Given the description of an element on the screen output the (x, y) to click on. 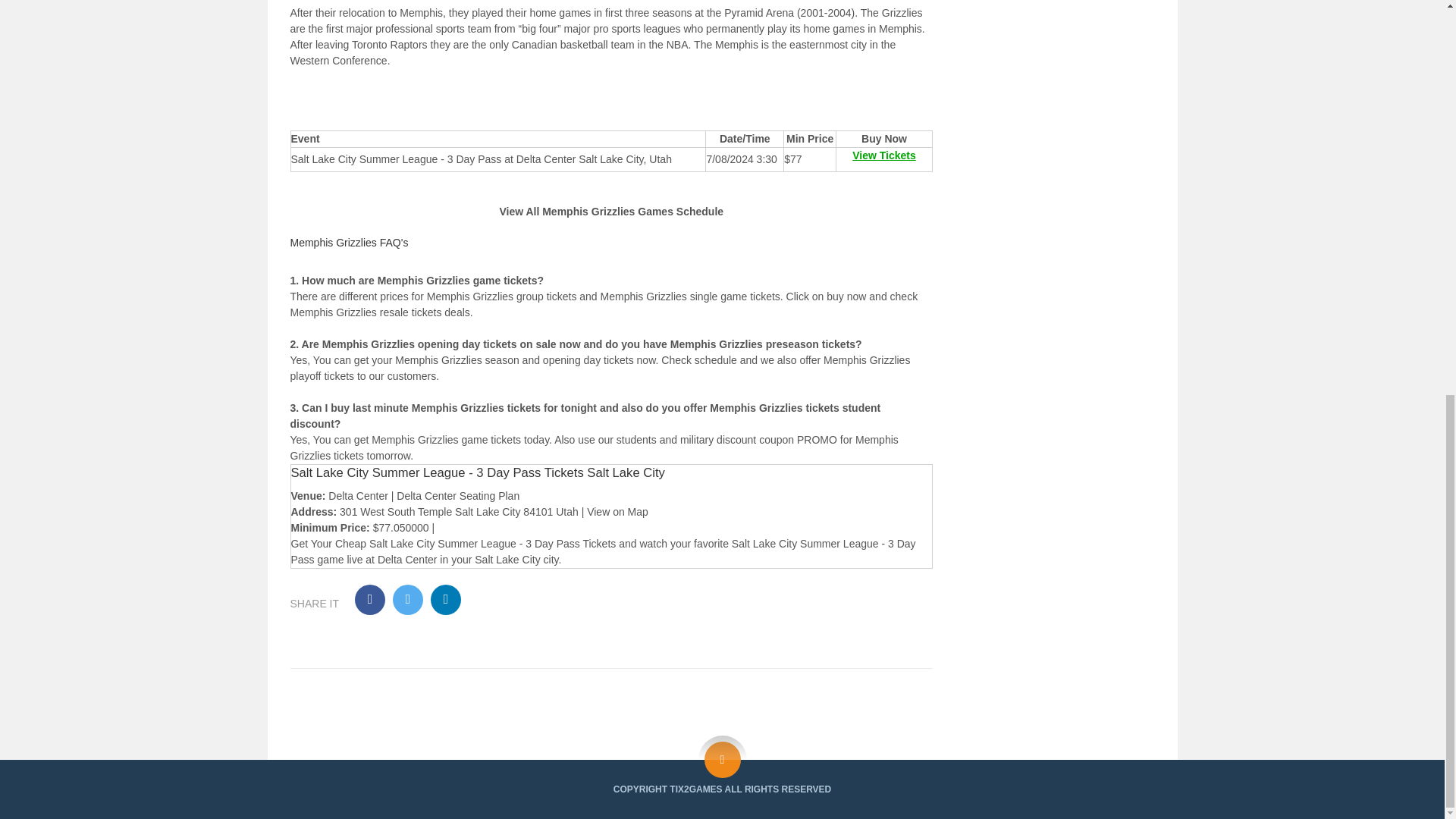
Share on LinkedIn (445, 765)
View on Map (616, 676)
View Tickets (883, 319)
Cheap Salt Lake City Summer League - 3 Day Pass Tickets (474, 708)
Share on Facebook (370, 765)
View All Memphis Grizzlies Games Schedule (611, 376)
Delta Center Seating Plan (457, 661)
Share on Twitter (408, 765)
